Given the description of an element on the screen output the (x, y) to click on. 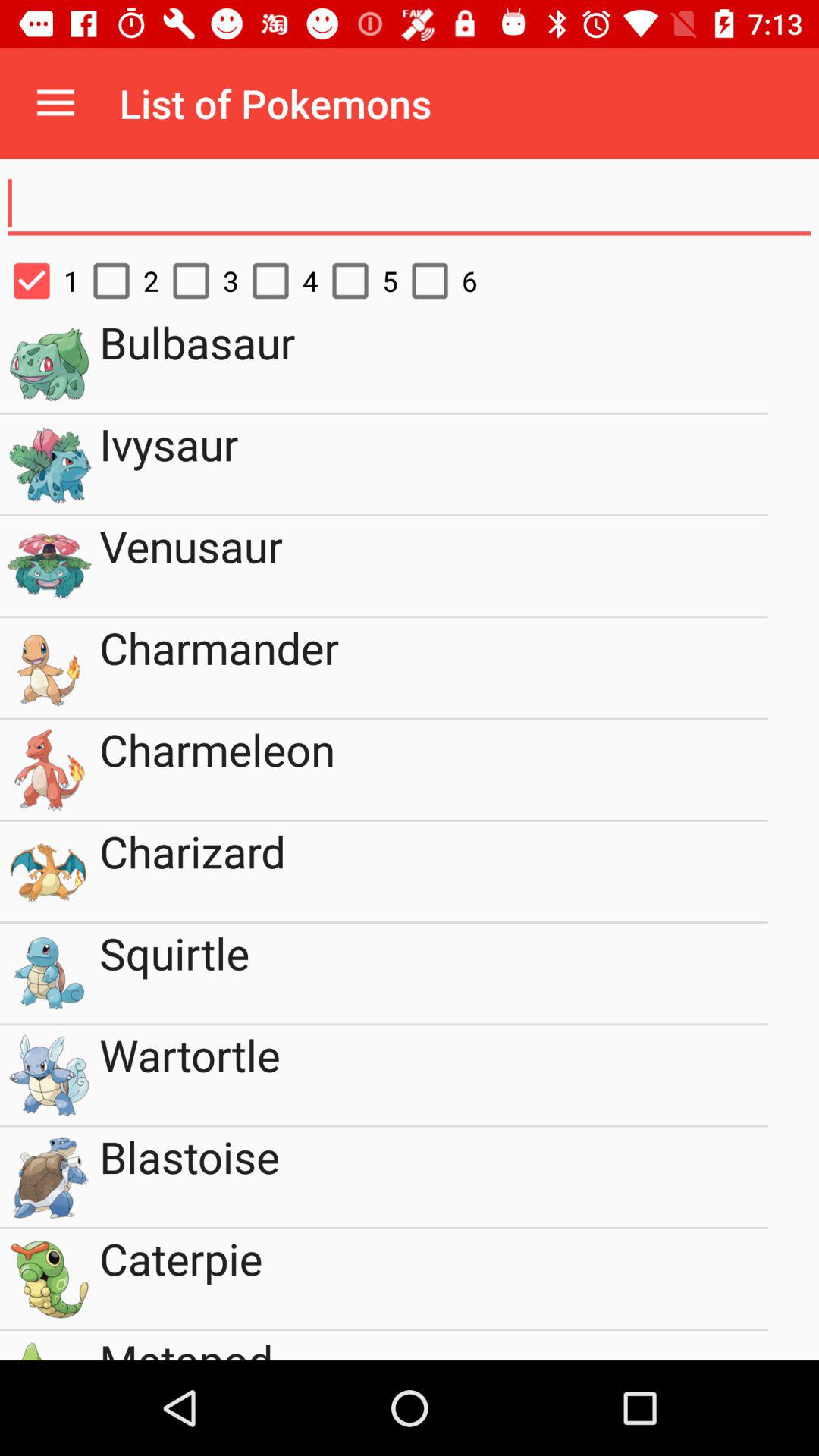
launch 6 (437, 280)
